Given the description of an element on the screen output the (x, y) to click on. 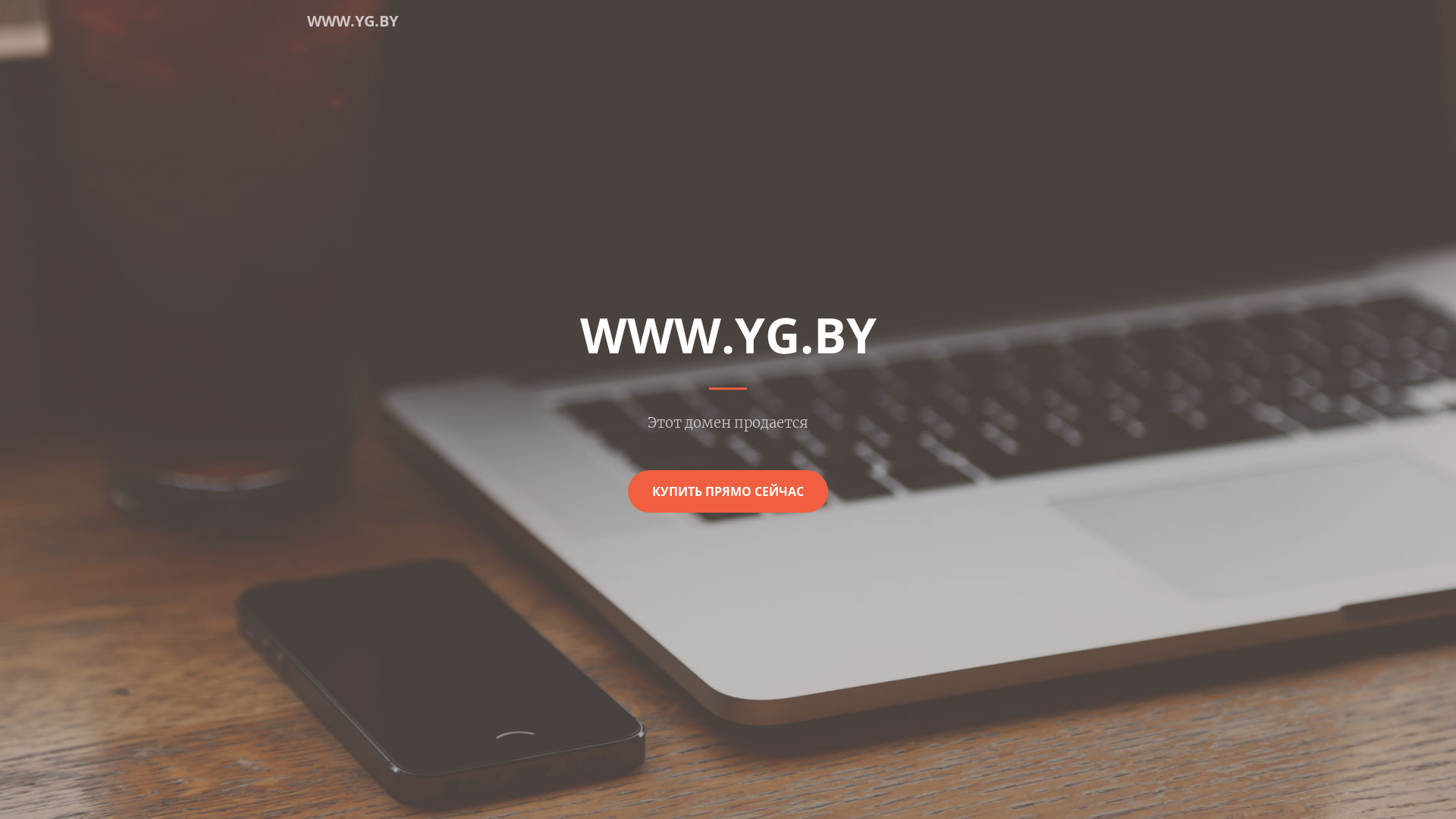
WWW.YG.BY Element type: text (352, 21)
